Given the description of an element on the screen output the (x, y) to click on. 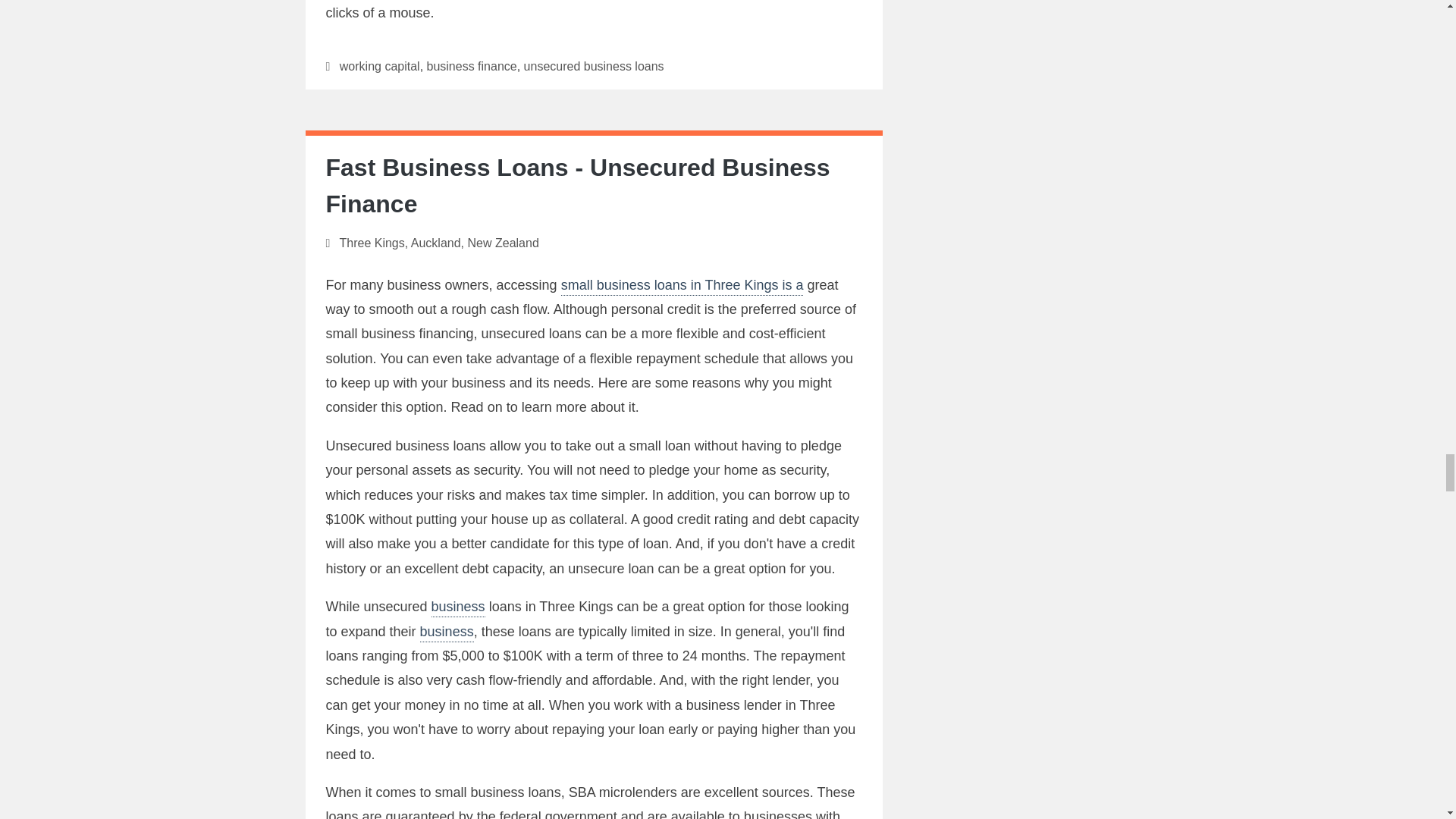
working capital (379, 65)
